Given the description of an element on the screen output the (x, y) to click on. 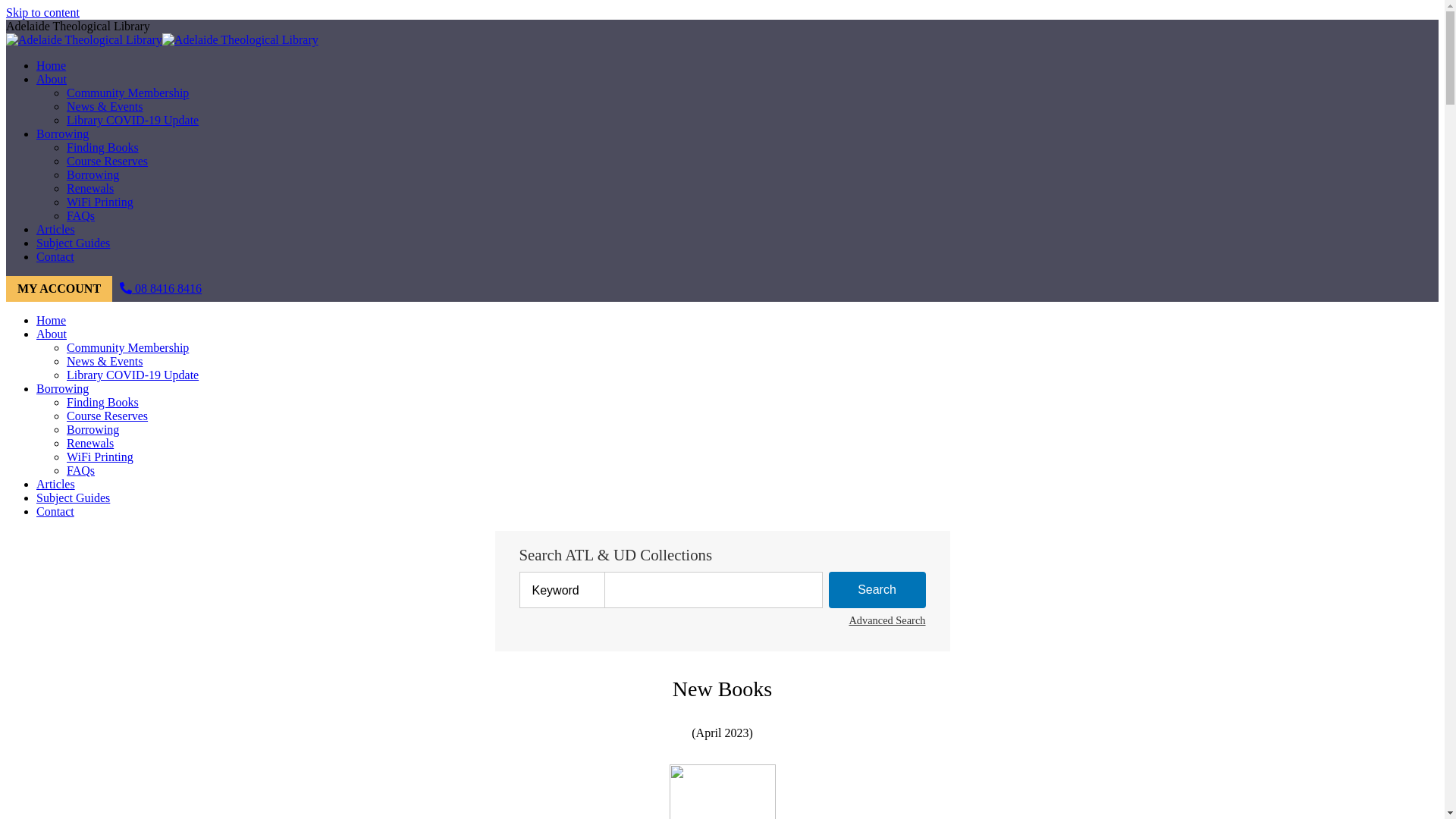
Finding Books Element type: text (102, 401)
Articles Element type: text (55, 228)
News & Events Element type: text (104, 360)
Home Element type: text (50, 65)
Search Element type: text (876, 589)
Finding Books Element type: text (102, 147)
Borrowing Element type: text (92, 429)
Library COVID-19 Update Element type: text (132, 119)
Library COVID-19 Update Element type: text (132, 374)
Subject Guides Element type: text (72, 497)
Community Membership Element type: text (127, 347)
MY ACCOUNT Element type: text (59, 288)
WiFi Printing Element type: text (99, 456)
Borrowing Element type: text (62, 133)
FAQs Element type: text (80, 470)
About Element type: text (51, 333)
Course Reserves Element type: text (106, 415)
 08 8416 8416 Element type: text (160, 288)
Renewals Element type: text (89, 188)
Contact Element type: text (55, 511)
Borrowing Element type: text (62, 388)
Community Membership Element type: text (127, 92)
Home Element type: text (50, 319)
Skip to content Element type: text (42, 12)
About Element type: text (51, 78)
News & Events Element type: text (104, 106)
Course Reserves Element type: text (106, 160)
Subject Guides Element type: text (72, 242)
FAQs Element type: text (80, 215)
WiFi Printing Element type: text (99, 201)
Contact Element type: text (55, 256)
Advanced Search Element type: text (886, 620)
Borrowing Element type: text (92, 174)
Articles Element type: text (55, 483)
Renewals Element type: text (89, 442)
